Given the description of an element on the screen output the (x, y) to click on. 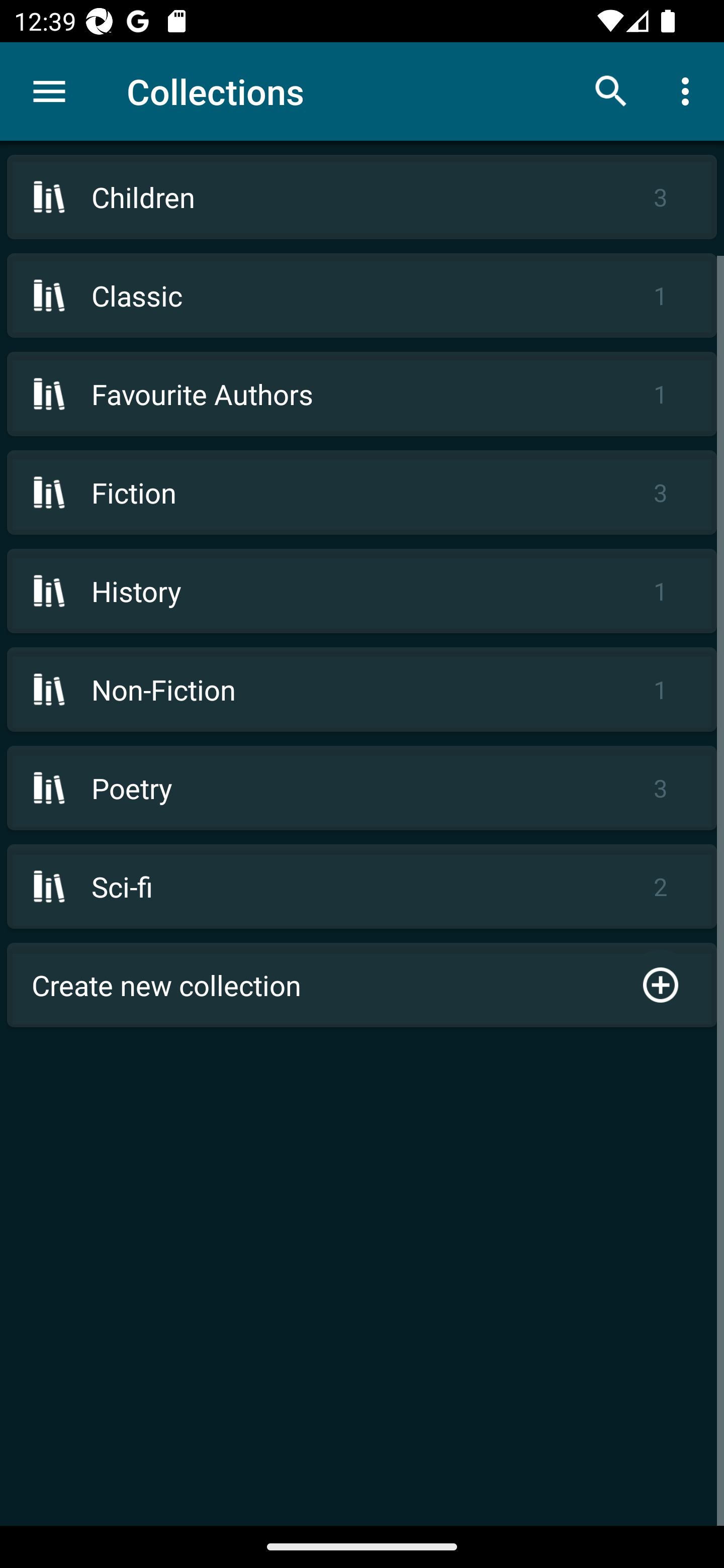
Menu (49, 91)
Search books & documents (611, 90)
More options (688, 90)
Children 3 (361, 197)
Classic 1 (361, 295)
Favourite Authors 1 (361, 393)
Fiction 3 (361, 492)
History 1 (361, 590)
Non-Fiction 1 (361, 689)
Poetry 3 (361, 787)
Sci-fi 2 (361, 885)
Create new collection (361, 984)
